Given the description of an element on the screen output the (x, y) to click on. 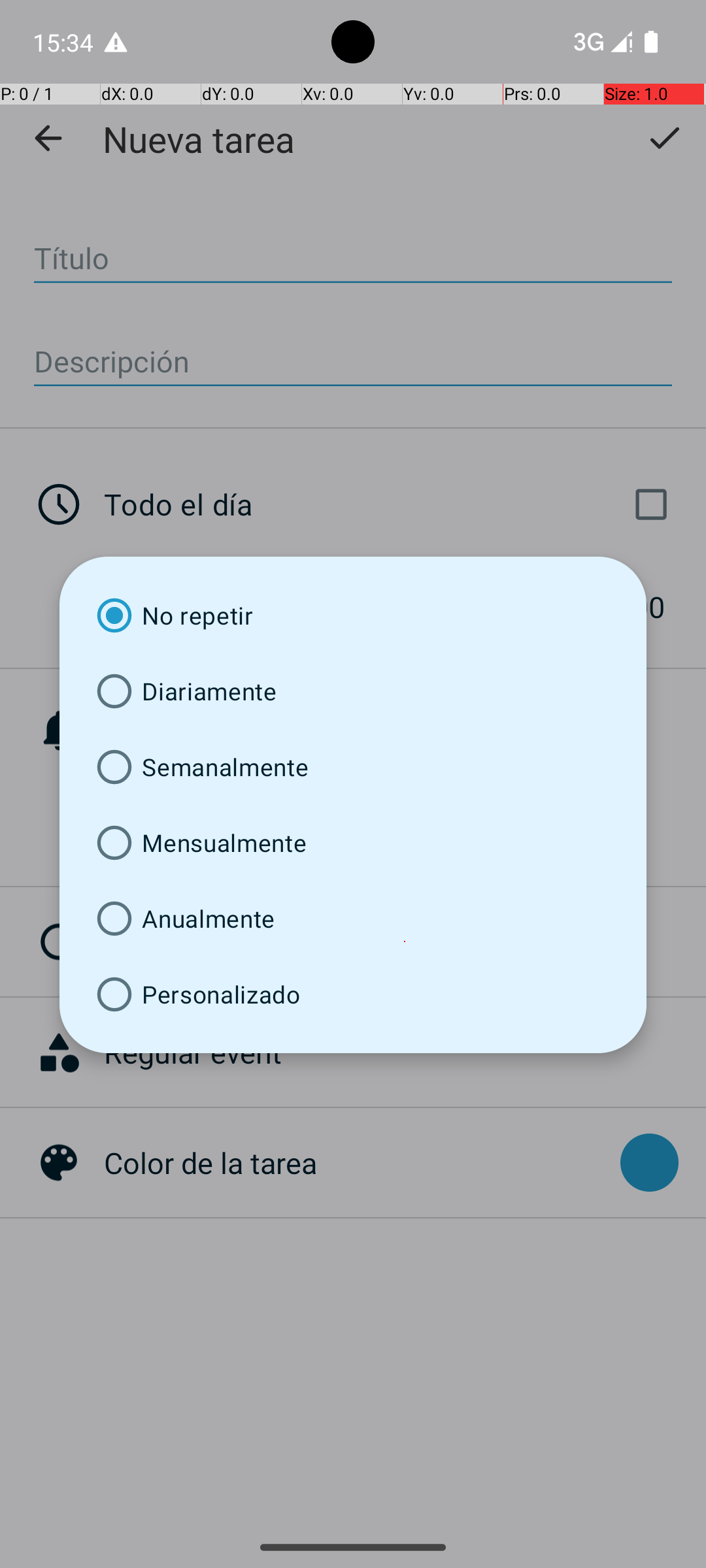
No repetir Element type: android.widget.RadioButton (352, 615)
Diariamente Element type: android.widget.RadioButton (352, 691)
Semanalmente Element type: android.widget.RadioButton (352, 766)
Mensualmente Element type: android.widget.RadioButton (352, 842)
Anualmente Element type: android.widget.RadioButton (352, 918)
Personalizado Element type: android.widget.RadioButton (352, 994)
